Given the description of an element on the screen output the (x, y) to click on. 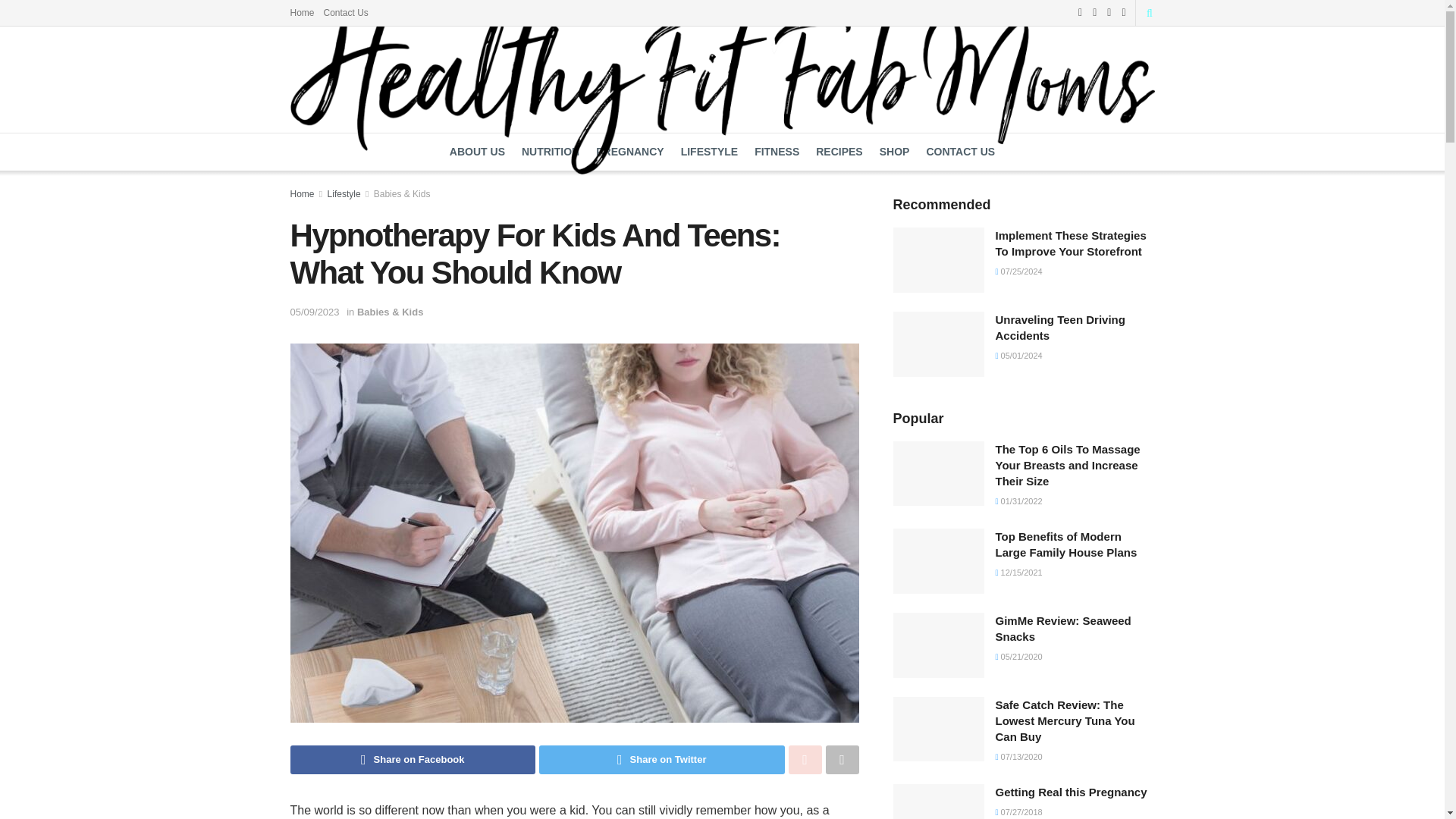
NUTRITION (550, 151)
FITNESS (776, 151)
RECIPES (838, 151)
LIFESTYLE (709, 151)
PREGNANCY (629, 151)
Home (301, 12)
ABOUT US (477, 151)
Contact Us (345, 12)
